Given the description of an element on the screen output the (x, y) to click on. 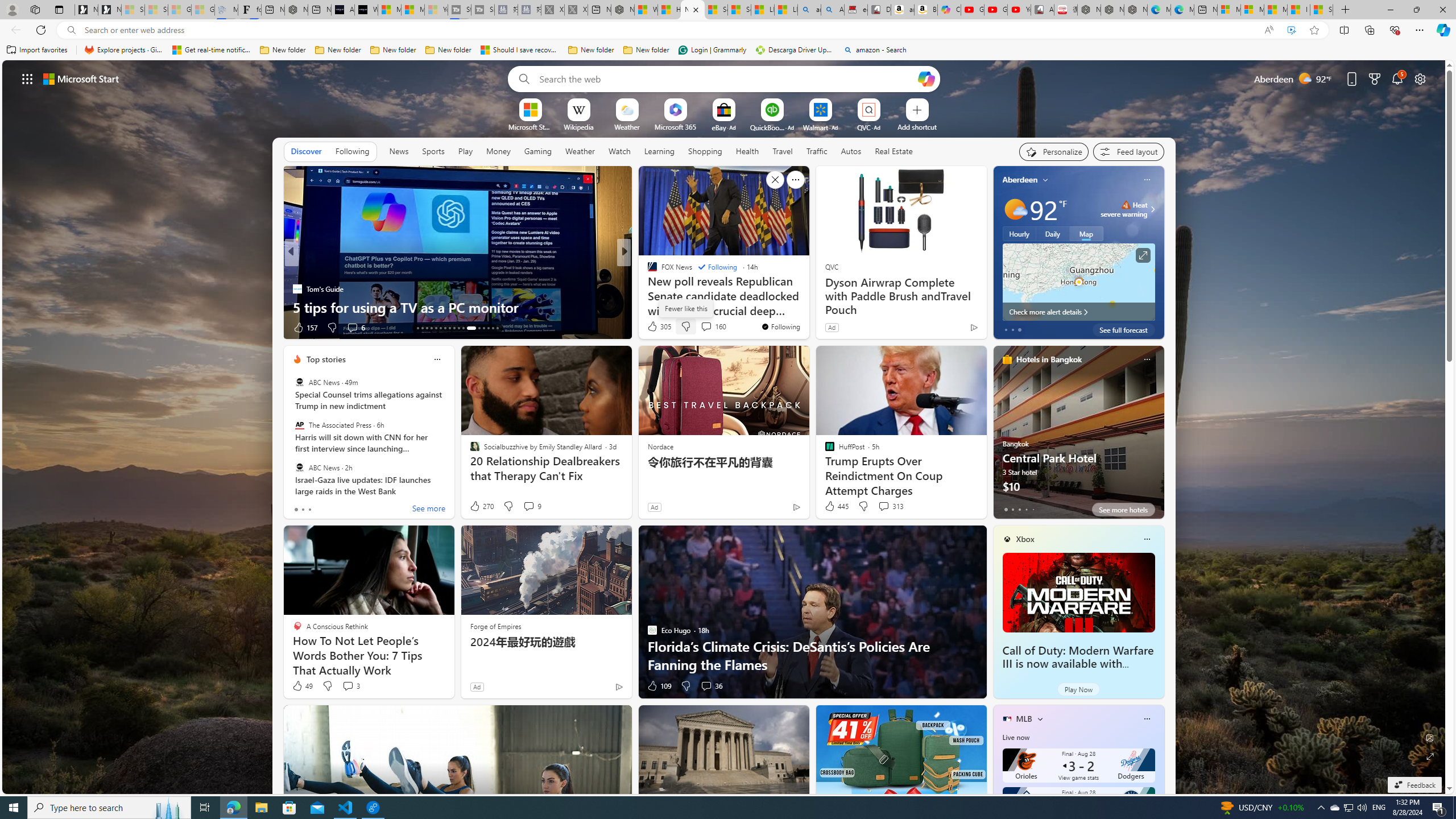
Learning (659, 151)
Nordace - My Account (622, 9)
Descarga Driver Updater (794, 49)
124 Like (654, 327)
Discover (306, 151)
AutomationID: tab-16 (431, 328)
Map (1085, 233)
Money (498, 151)
View comments 313 Comment (883, 505)
App bar (728, 29)
